Given the description of an element on the screen output the (x, y) to click on. 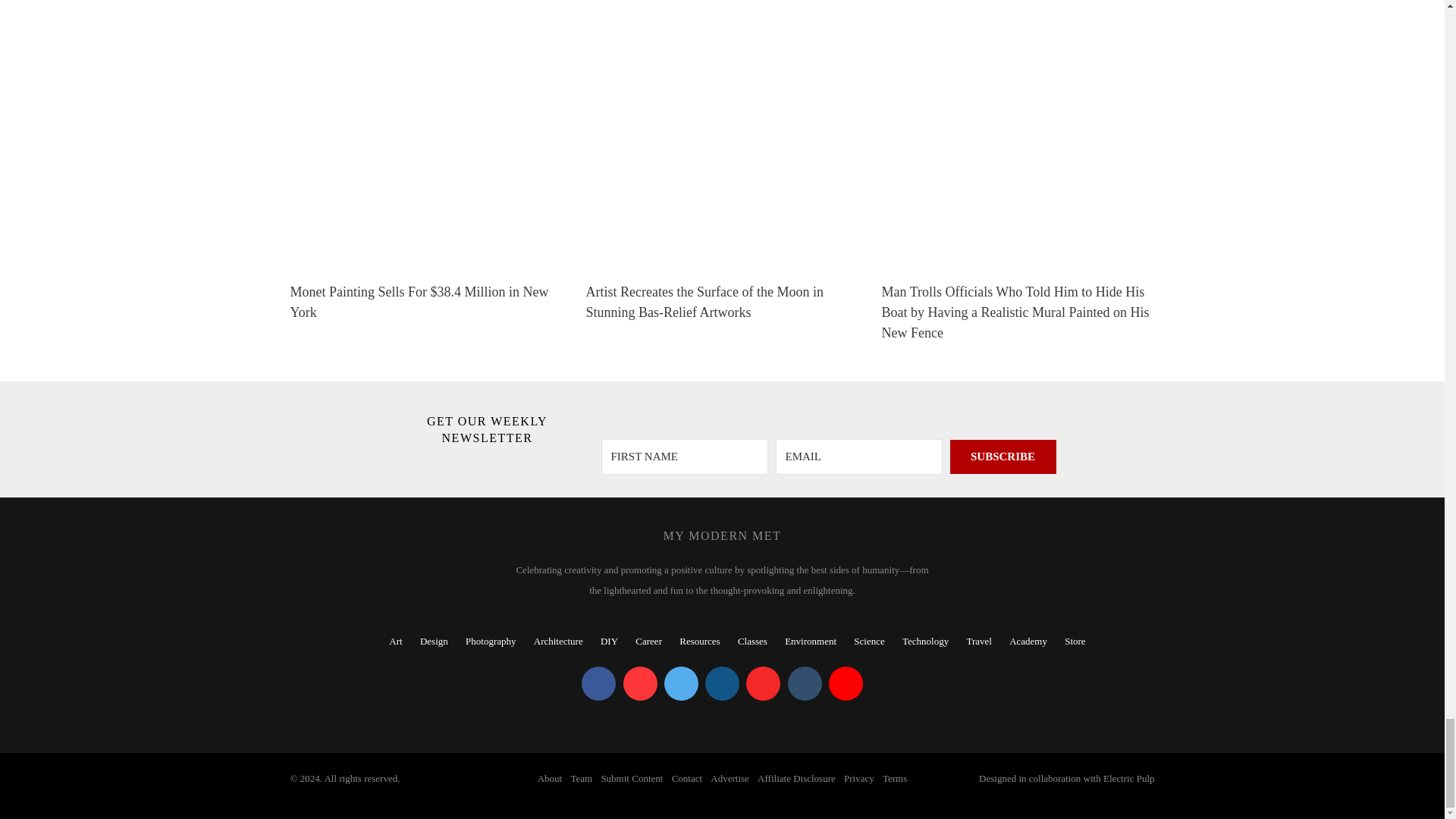
My Modern Met on YouTube (845, 683)
My Modern Met on Instagram (721, 683)
My Modern Met on Tumblr (804, 683)
My Modern Met on Pinterest (640, 683)
My Modern Met on Twitter (680, 683)
My Modern Met on Facebook (597, 683)
